Given the description of an element on the screen output the (x, y) to click on. 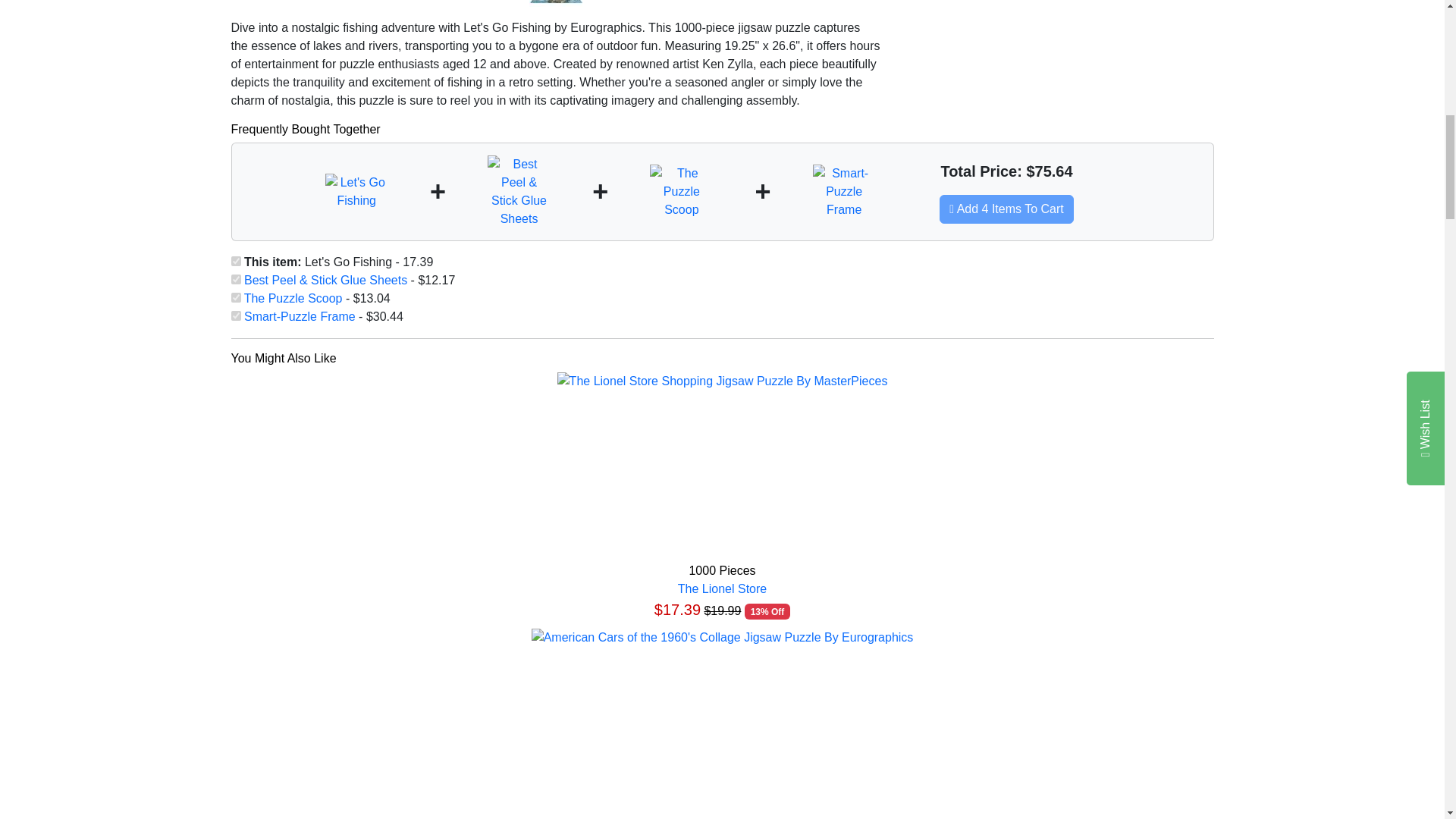
115502 (235, 279)
The Lionel Store Shopping Jigsaw Puzzle By MasterPieces (722, 381)
145265 (235, 297)
124093 (235, 316)
185707 (235, 261)
